Given the description of an element on the screen output the (x, y) to click on. 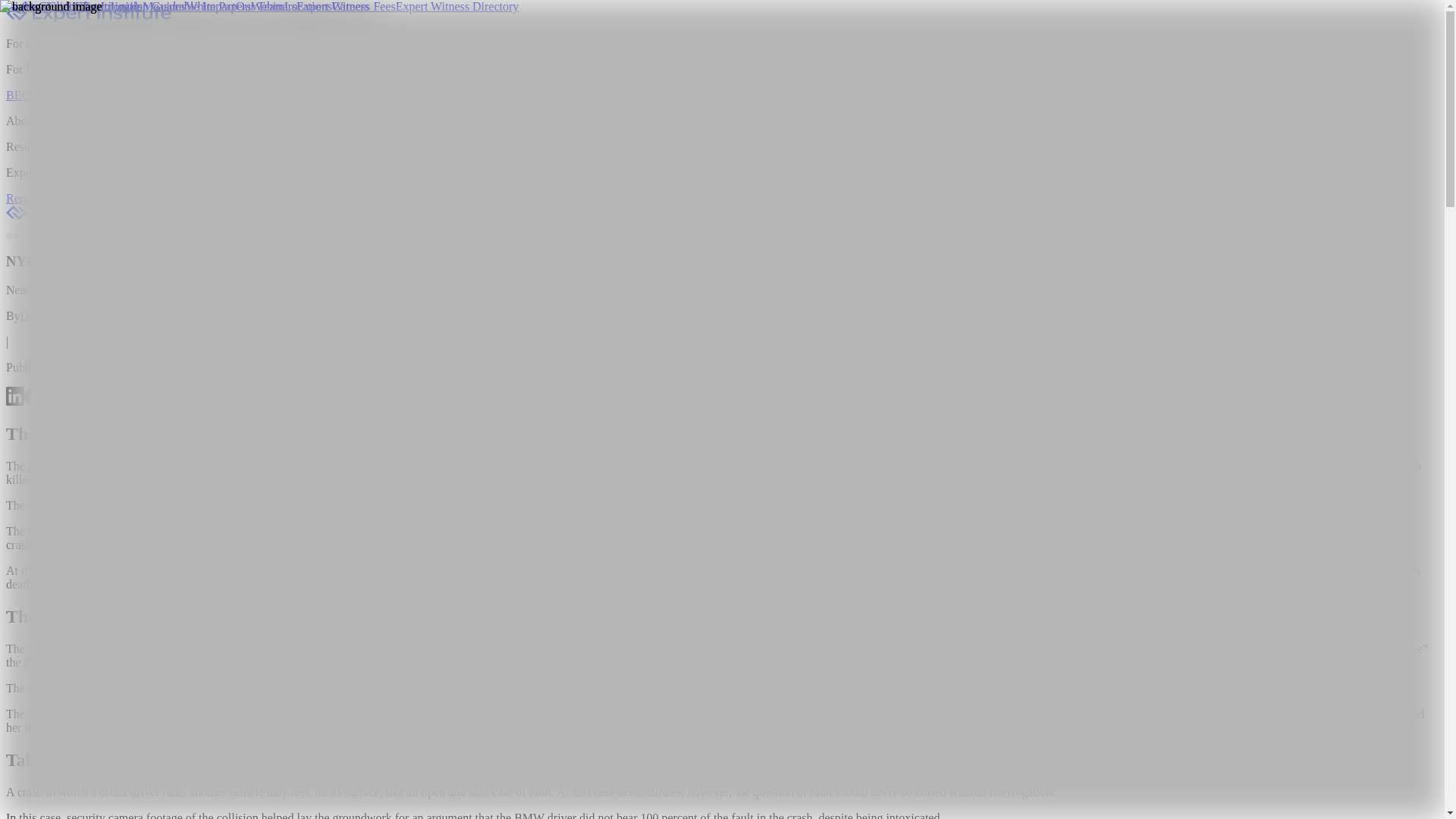
Request an Expert (49, 197)
Insights (19, 6)
Case Studies (69, 6)
Webinars (273, 6)
Dani Alexis Ryskamp, J.D. (86, 315)
Client Testimonials (95, 6)
Our Team (259, 6)
Locations (307, 6)
BECOME AN EXPERT (64, 94)
Measurable Impact (188, 6)
